Given the description of an element on the screen output the (x, y) to click on. 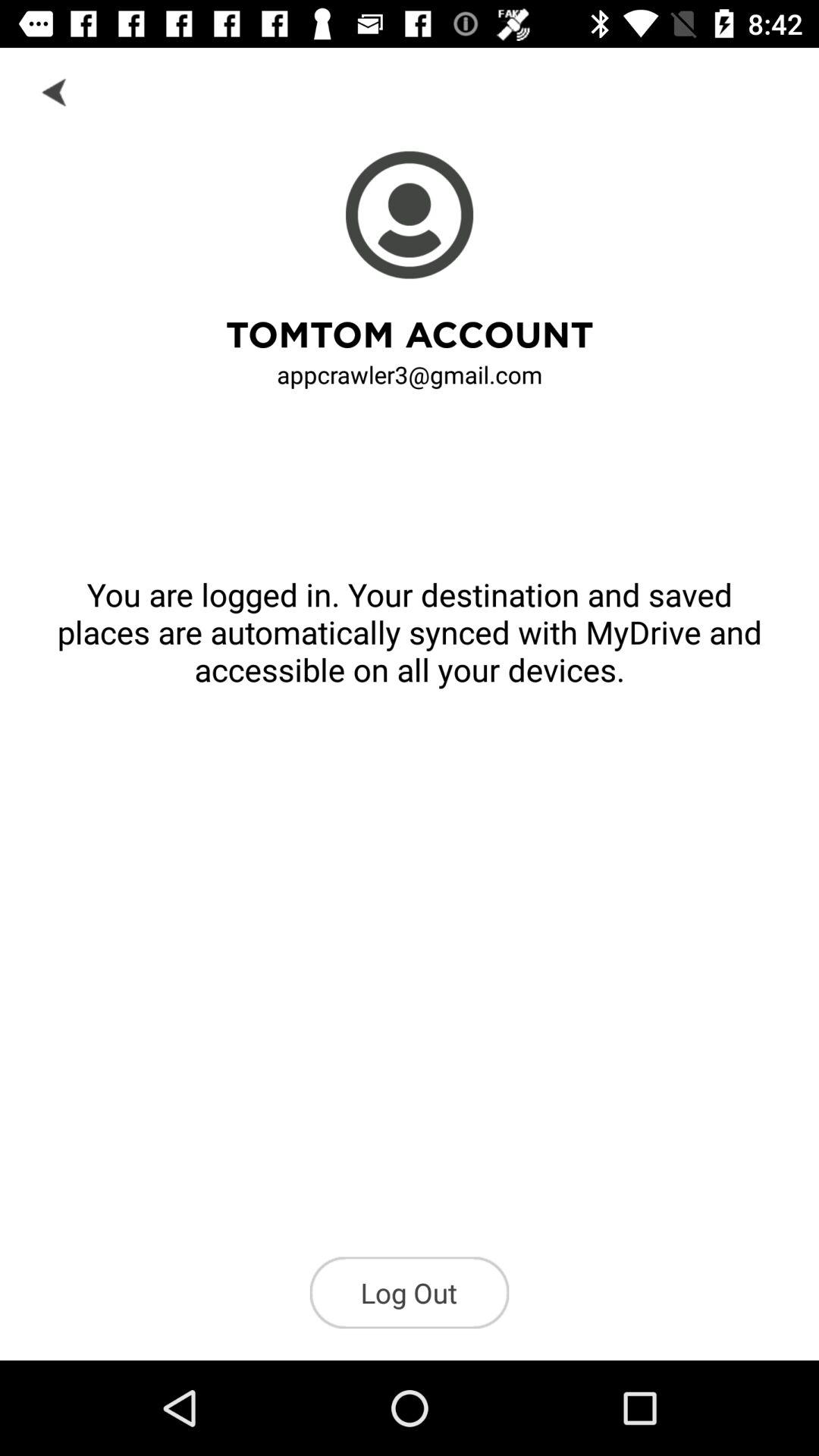
choose the icon above the tomtom account (55, 91)
